Given the description of an element on the screen output the (x, y) to click on. 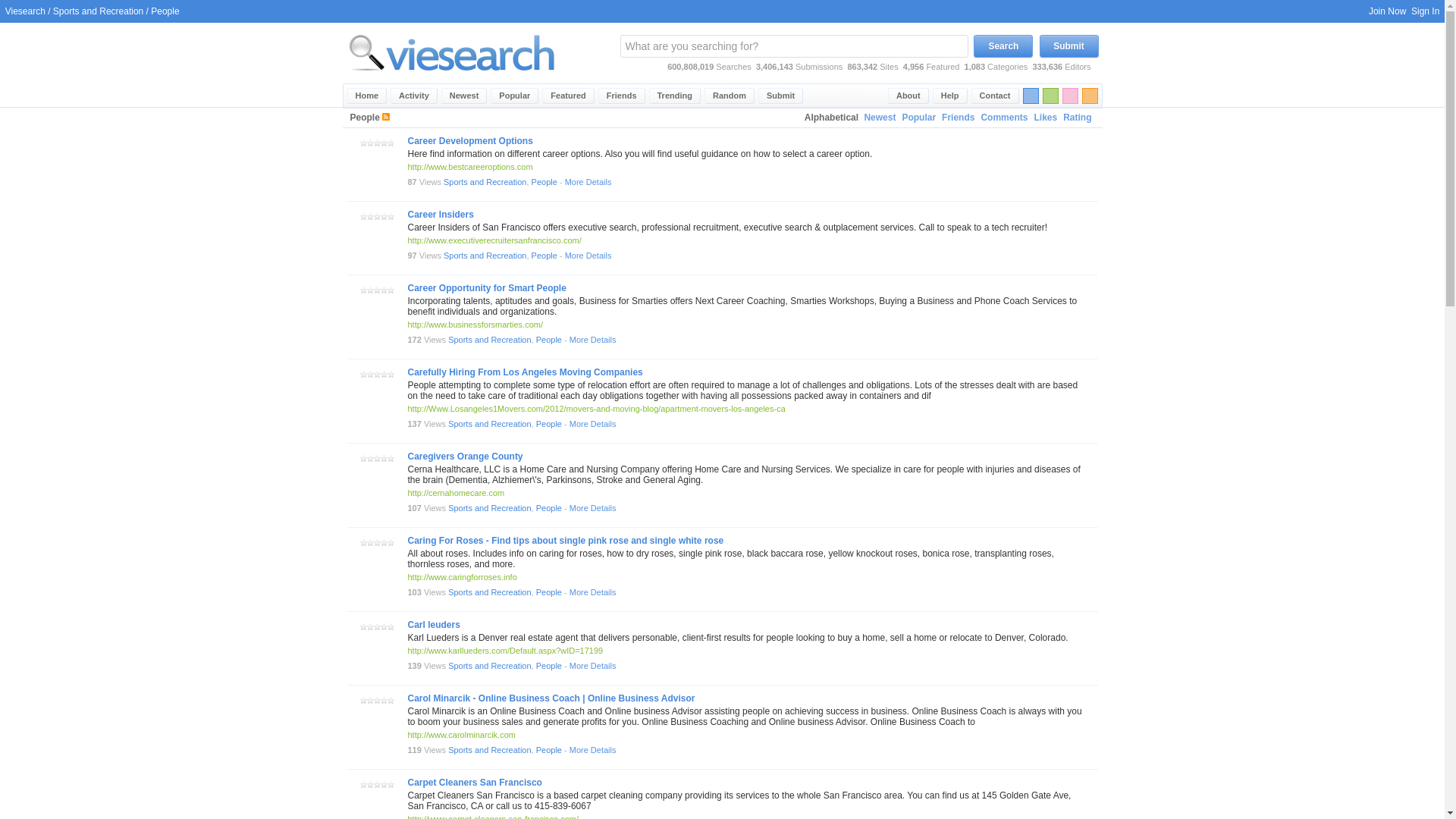
The top 50 longest featured sites in Viesearch (567, 95)
Sports and Recreation (97, 10)
Help (950, 95)
Sign In (1424, 10)
Likes (1044, 117)
The top 50 most viewed sites in Viesearch (514, 95)
Viesearch - Human Powered Search Engine (452, 52)
What are you searching for? (794, 46)
Viesearch - Human Powered Search Engine (452, 80)
Switch this page to orange (1089, 95)
What are you searching for? (794, 46)
People (544, 181)
Home (367, 95)
Viesearch (367, 95)
